Given the description of an element on the screen output the (x, y) to click on. 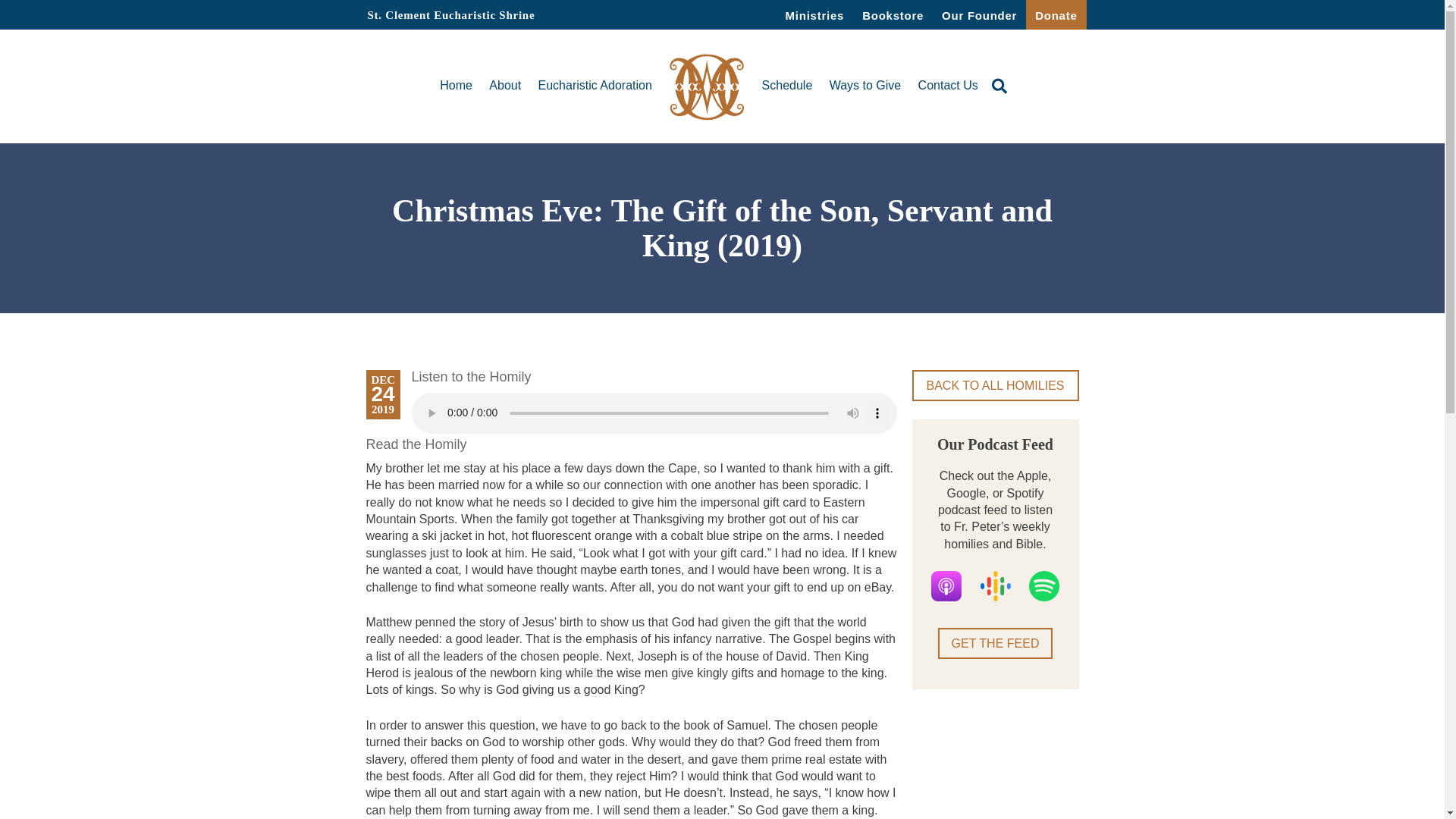
Schedule (786, 85)
Donate (1056, 14)
About (505, 85)
Home (455, 85)
Bookstore (893, 14)
Apple Podcasts (945, 585)
Google Podcasts (994, 585)
Contact Us (948, 85)
Ministries (814, 14)
Eucharistic Adoration (595, 85)
